Given the description of an element on the screen output the (x, y) to click on. 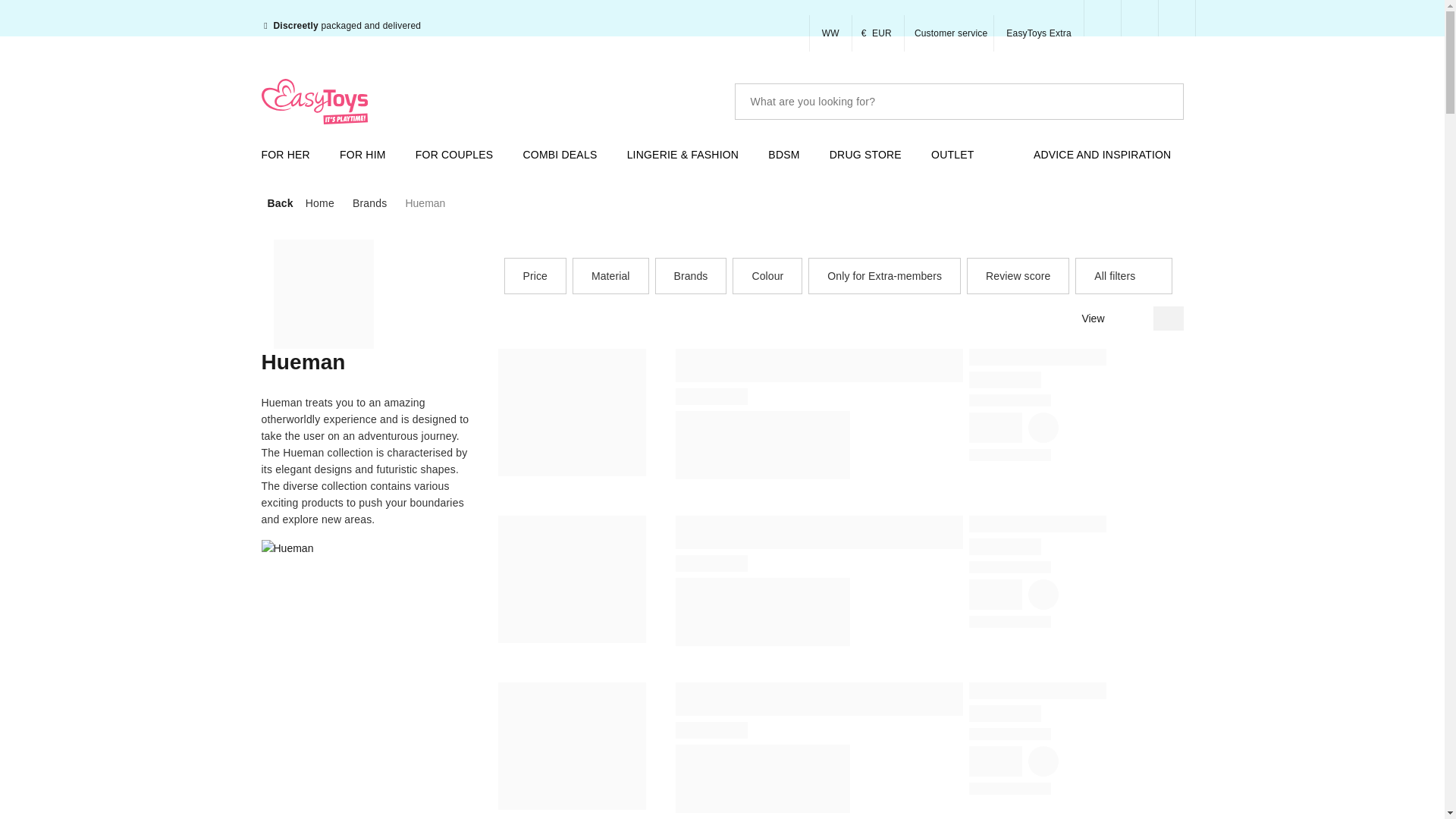
BDSM (789, 154)
COMBI DEALS (566, 154)
FOR HIM (368, 154)
DRUG STORE (871, 154)
Customer service (949, 33)
FOR HER (290, 154)
FOR COUPLES (459, 154)
OUTLET (958, 154)
ADVICE AND INSPIRATION (1108, 154)
